Given the description of an element on the screen output the (x, y) to click on. 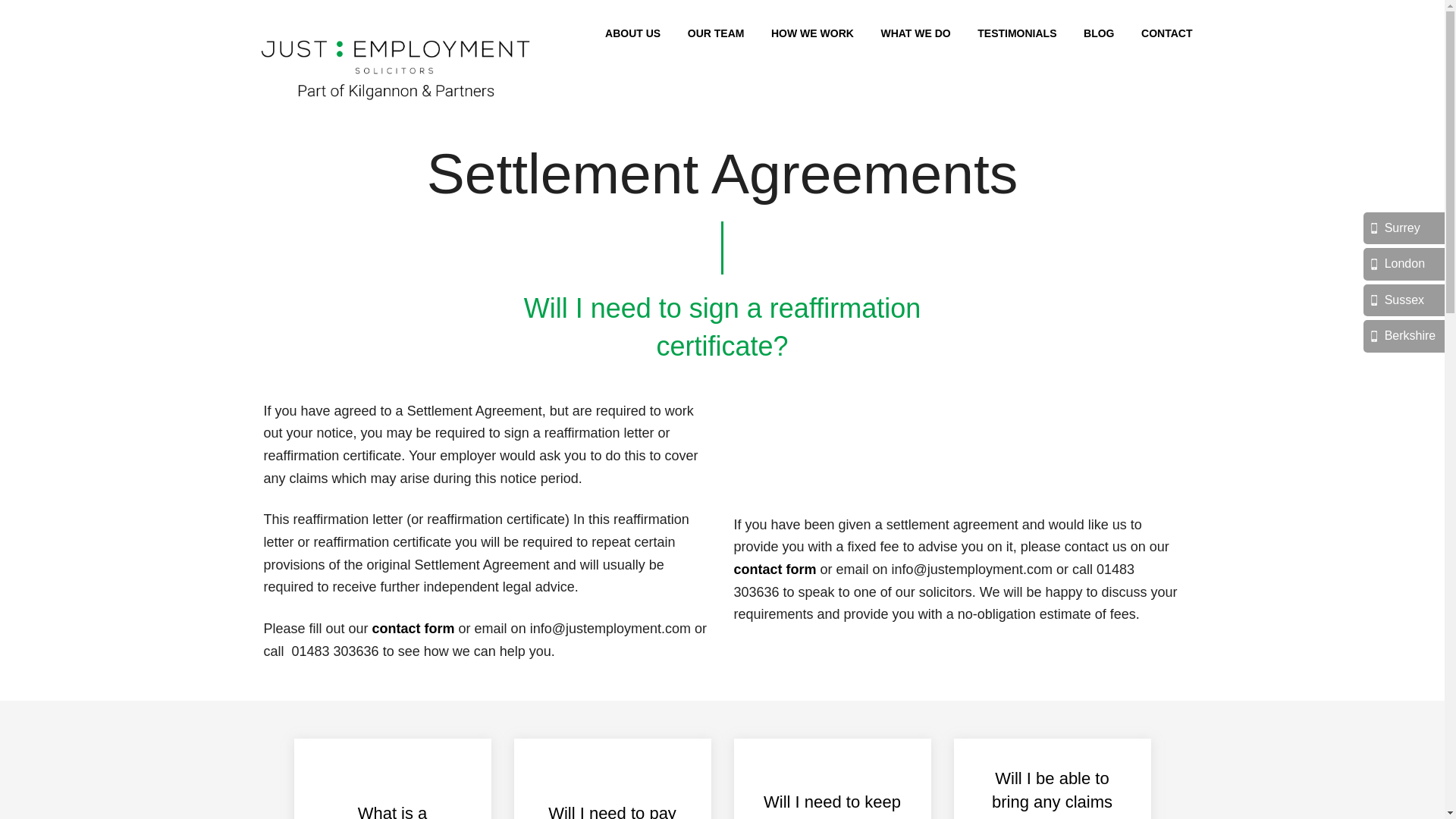
TESTIMONIALS (1016, 33)
HOW WE WORK (812, 33)
ReviewSolicitors (884, 457)
Will I need to keep the Settlement Agreement confidential? (832, 778)
OUR TEAM (715, 33)
Will I need to pay tax on the settlement sum? (612, 778)
What is a Settlement Agreement? (392, 778)
WHAT WE DO (915, 33)
CONTACT (1166, 33)
ABOUT US (633, 33)
BLOG (1098, 33)
